Given the description of an element on the screen output the (x, y) to click on. 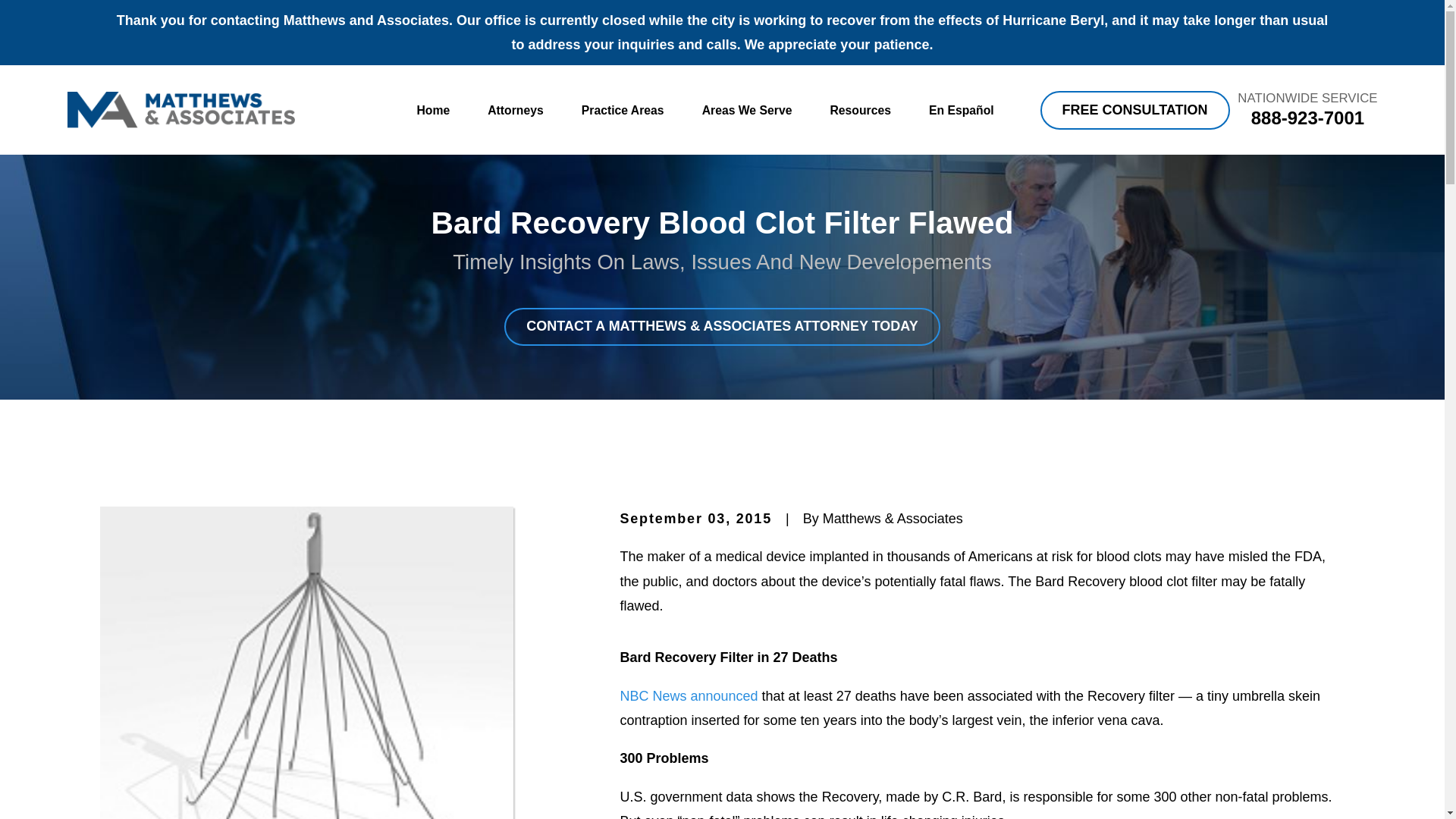
Home (180, 109)
Practice Areas (621, 110)
Attorneys (515, 110)
